Given the description of an element on the screen output the (x, y) to click on. 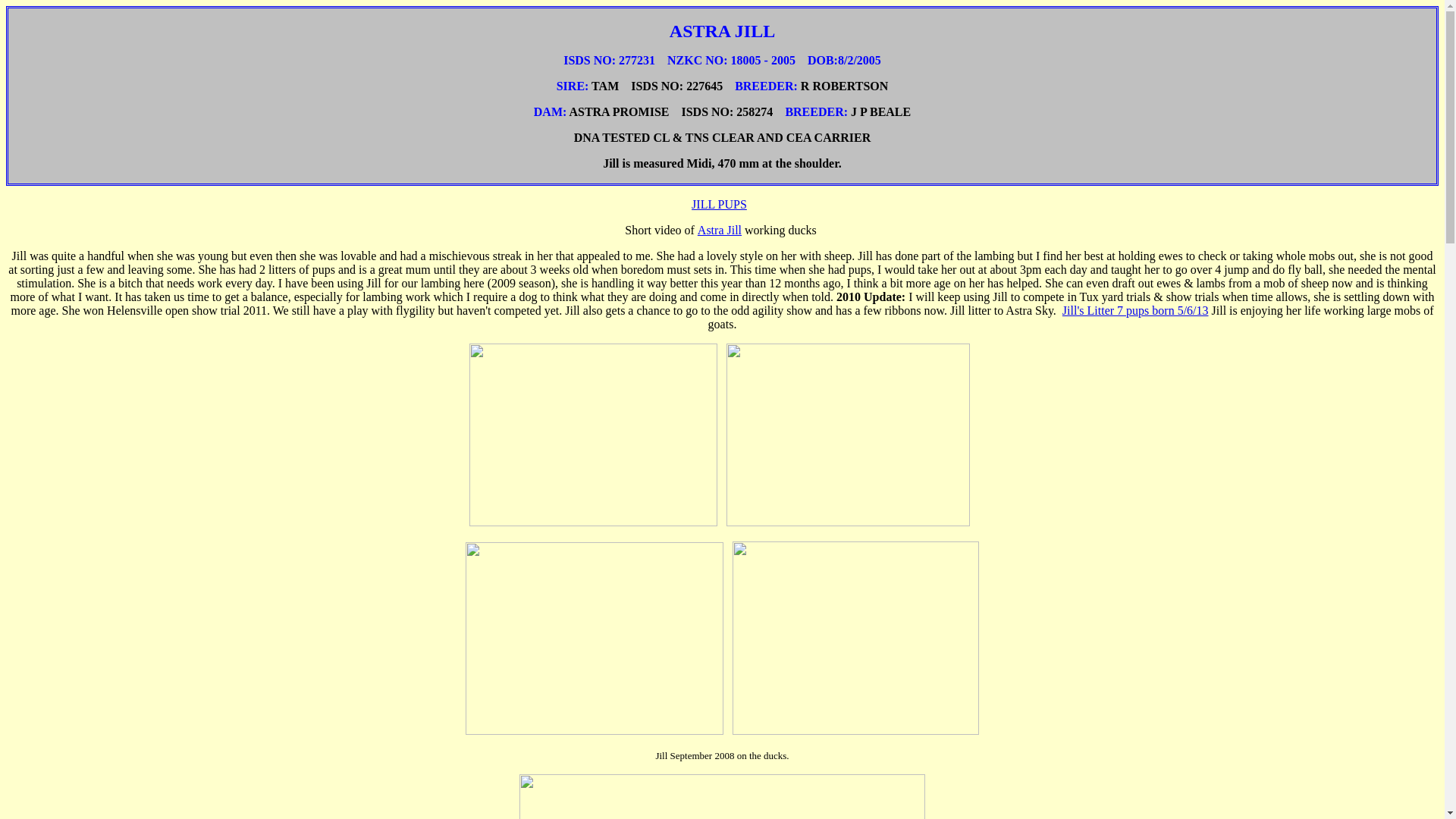
Astra Jill (719, 229)
Astra Jill Pups (718, 204)
Astra Jill (719, 229)
JILL PUPS (718, 204)
Jill x Sky pups (1135, 309)
